Given the description of an element on the screen output the (x, y) to click on. 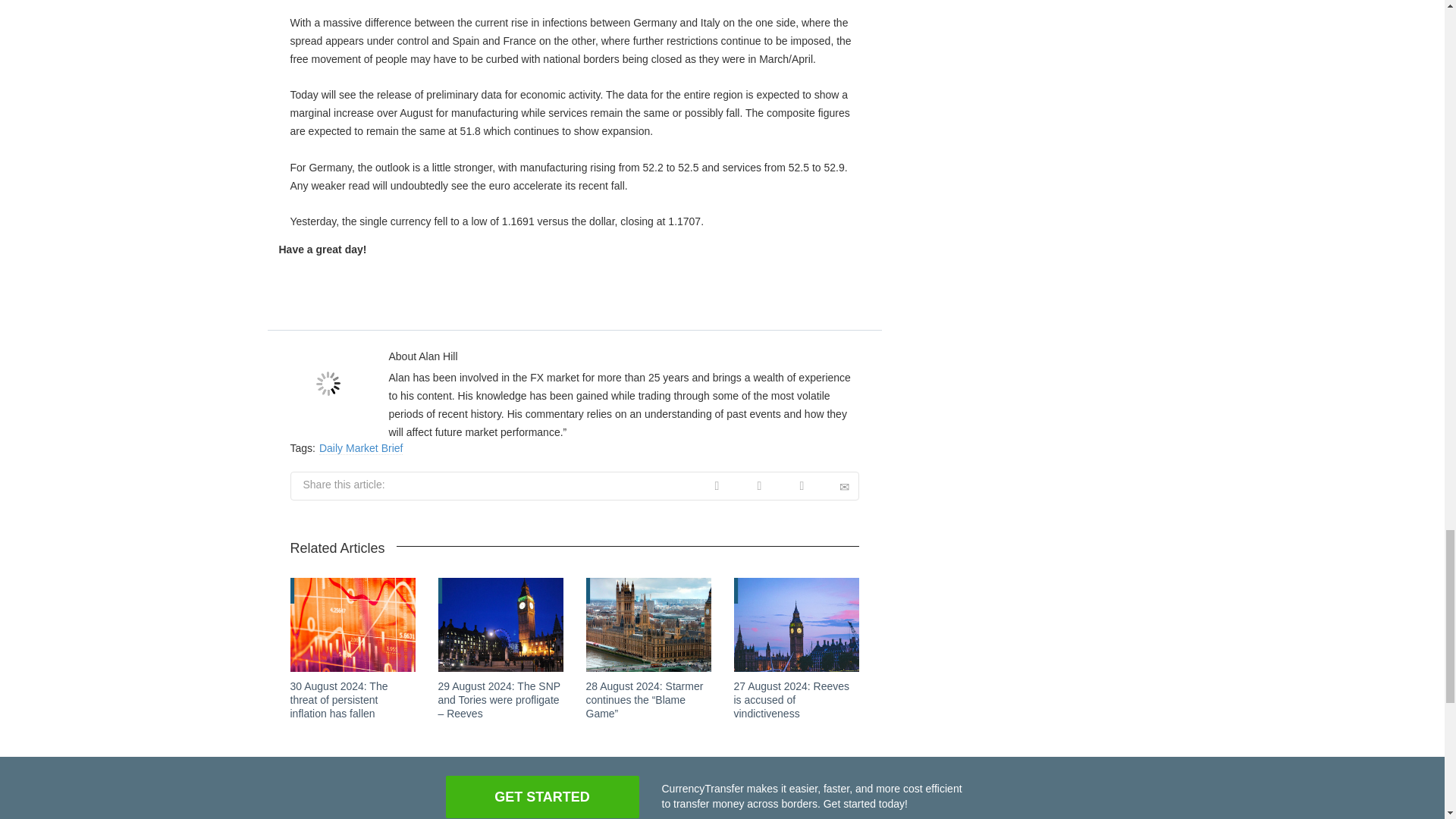
Daily Market Brief (360, 448)
27 August 2024: Reeves is accused of vindictiveness (791, 699)
